Given the description of an element on the screen output the (x, y) to click on. 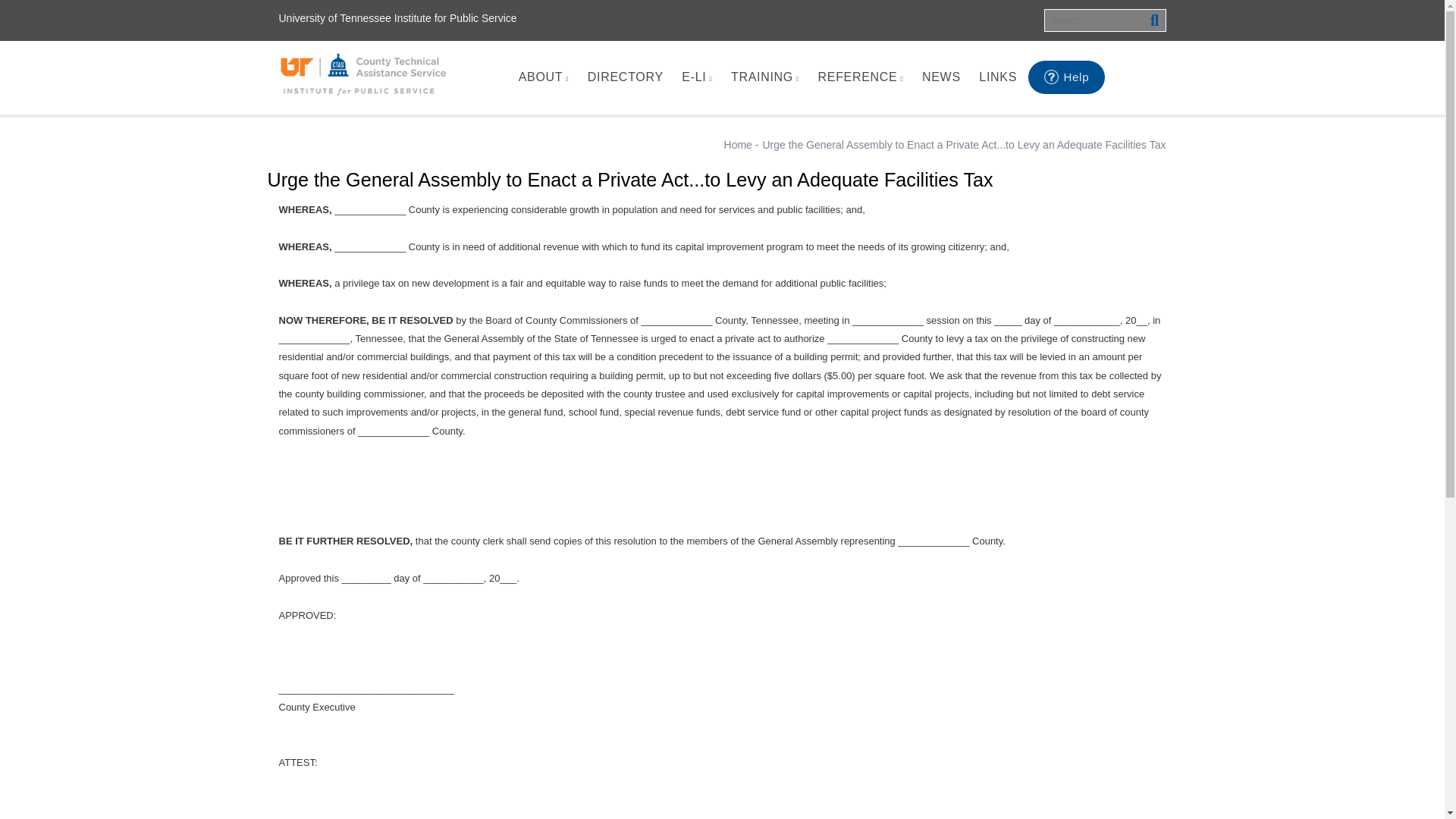
Search (1154, 20)
Enter the terms you wish to search for. (1104, 20)
TRAINING (764, 77)
REFERENCE (860, 77)
Home (364, 74)
ABOUT (543, 77)
Search (1154, 20)
University of Tennessee Institute for Public Service (397, 18)
DIRECTORY (625, 77)
